Given the description of an element on the screen output the (x, y) to click on. 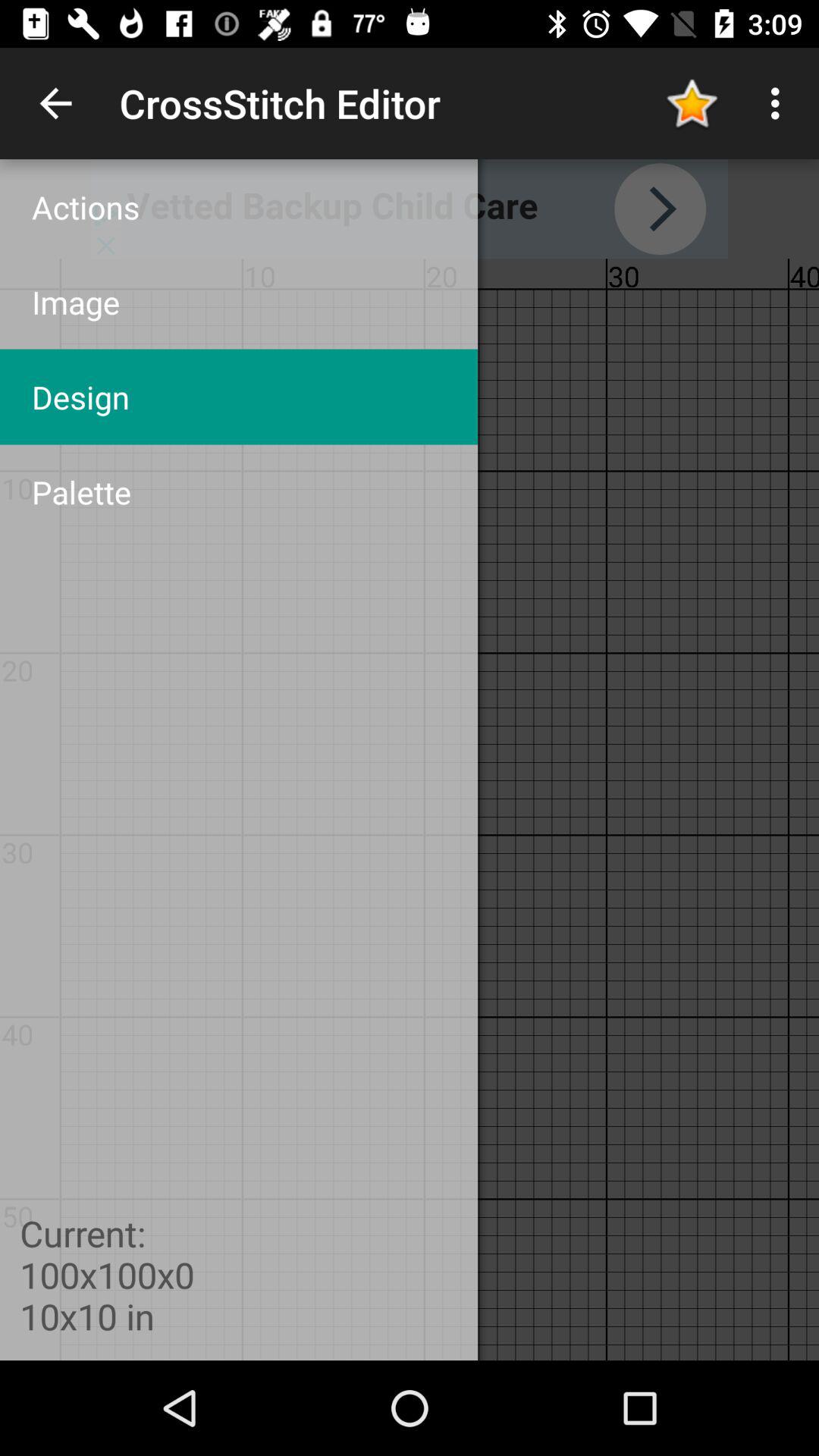
select advertisement (409, 208)
